Given the description of an element on the screen output the (x, y) to click on. 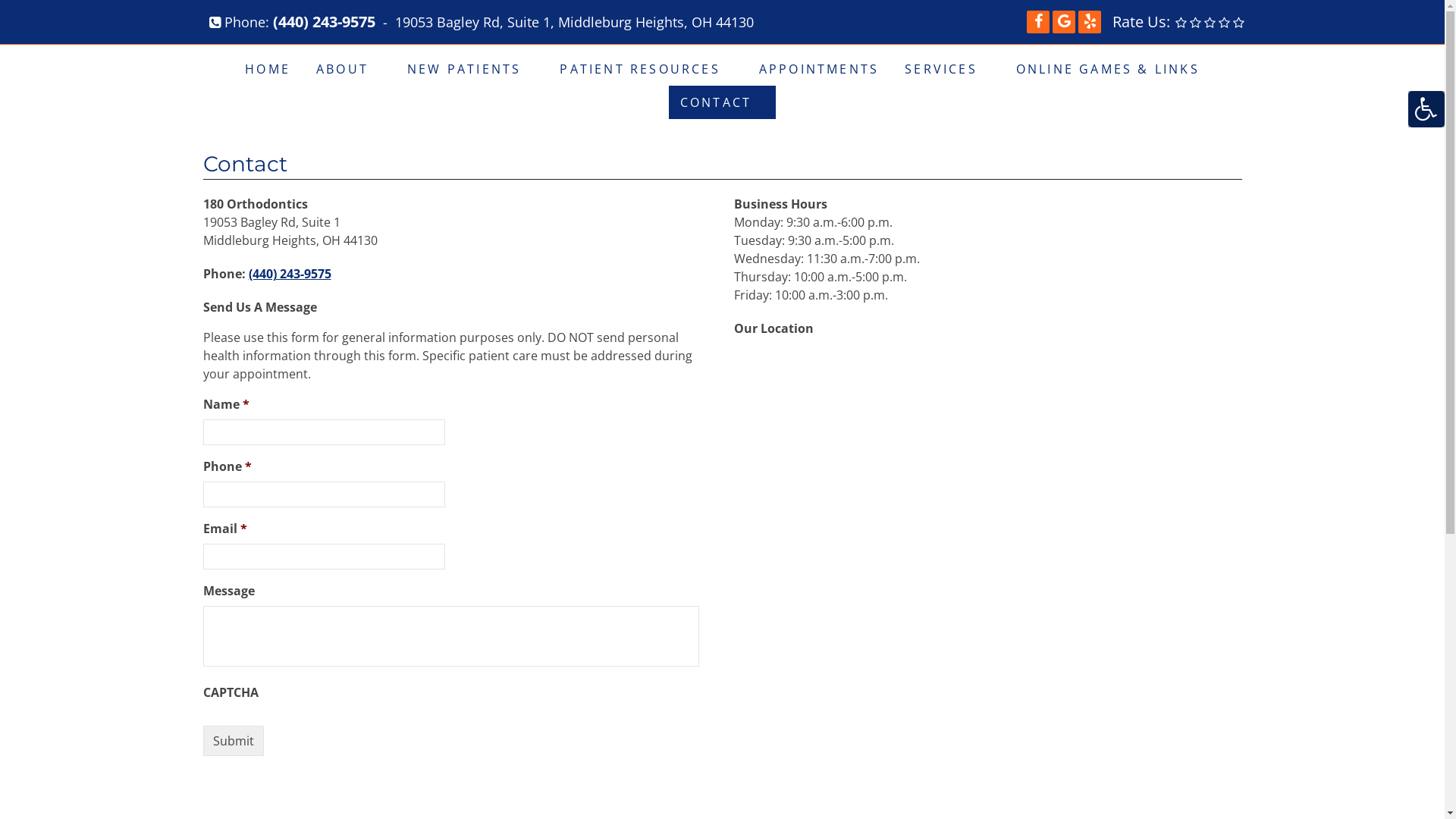
APPOINTMENTS Element type: text (818, 68)
(440) 243-9575 Element type: text (289, 273)
ABOUT Element type: text (348, 68)
Accessibility Helper sidebar Element type: hover (1426, 109)
19053 Bagley Rd, Suite 1, Middleburg Heights, OH 44130 Element type: text (574, 21)
(440) 243-9575 Element type: text (324, 21)
NEW PATIENTS Element type: text (470, 68)
HOME Element type: text (267, 68)
Submit Element type: text (233, 740)
SERVICES Element type: text (947, 68)
PATIENT RESOURCES Element type: text (645, 68)
ONLINE GAMES & LINKS Element type: text (1107, 68)
CONTACT Element type: text (721, 102)
